Given the description of an element on the screen output the (x, y) to click on. 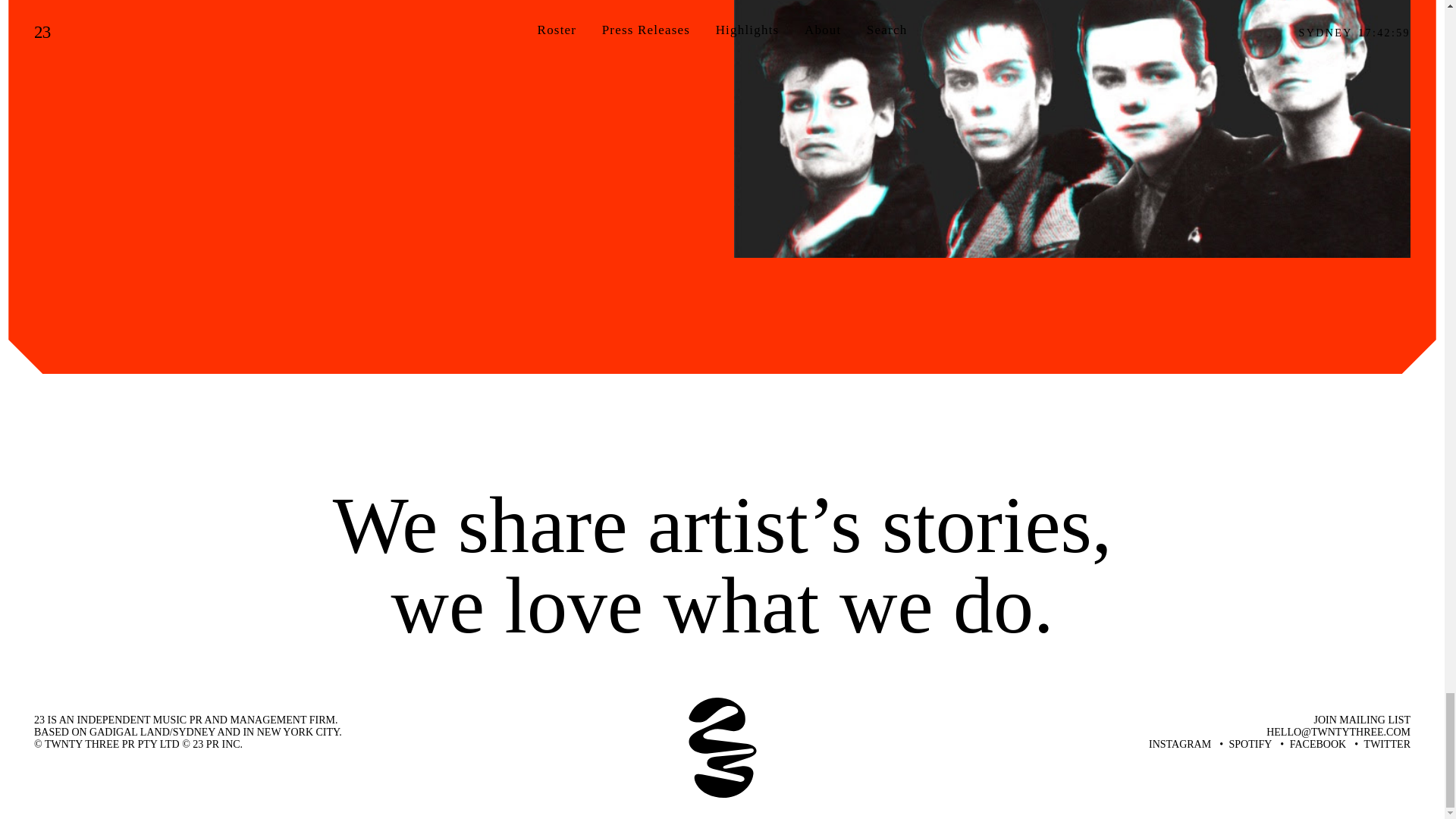
JOIN MAILING LIST (1361, 719)
Send (1394, 715)
FACEBOOK (1317, 744)
INSTAGRAM (1179, 744)
TWITTER (1387, 744)
SPOTIFY (1250, 744)
